Given the description of an element on the screen output the (x, y) to click on. 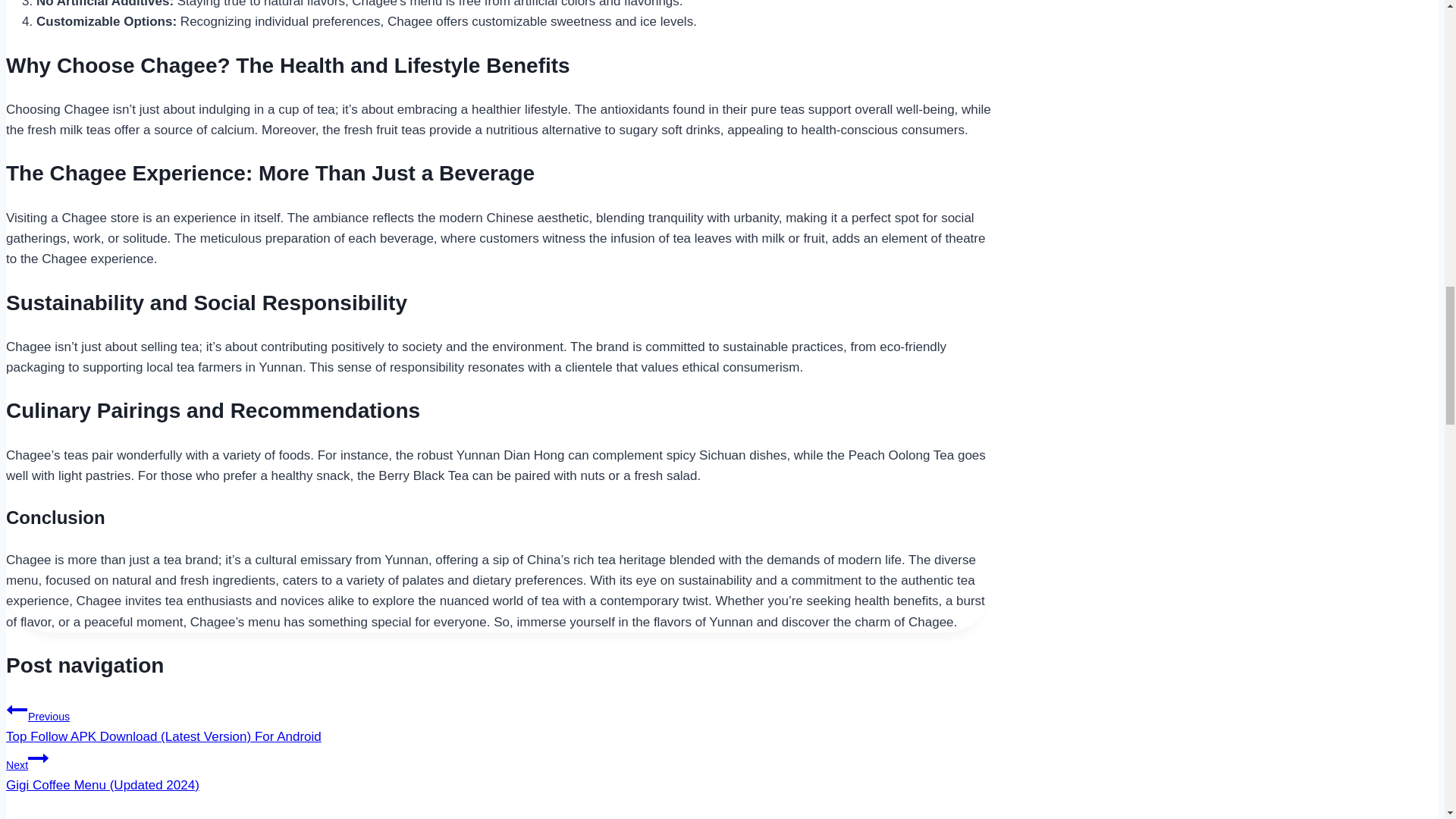
Previous (16, 709)
Continue (37, 758)
